Given the description of an element on the screen output the (x, y) to click on. 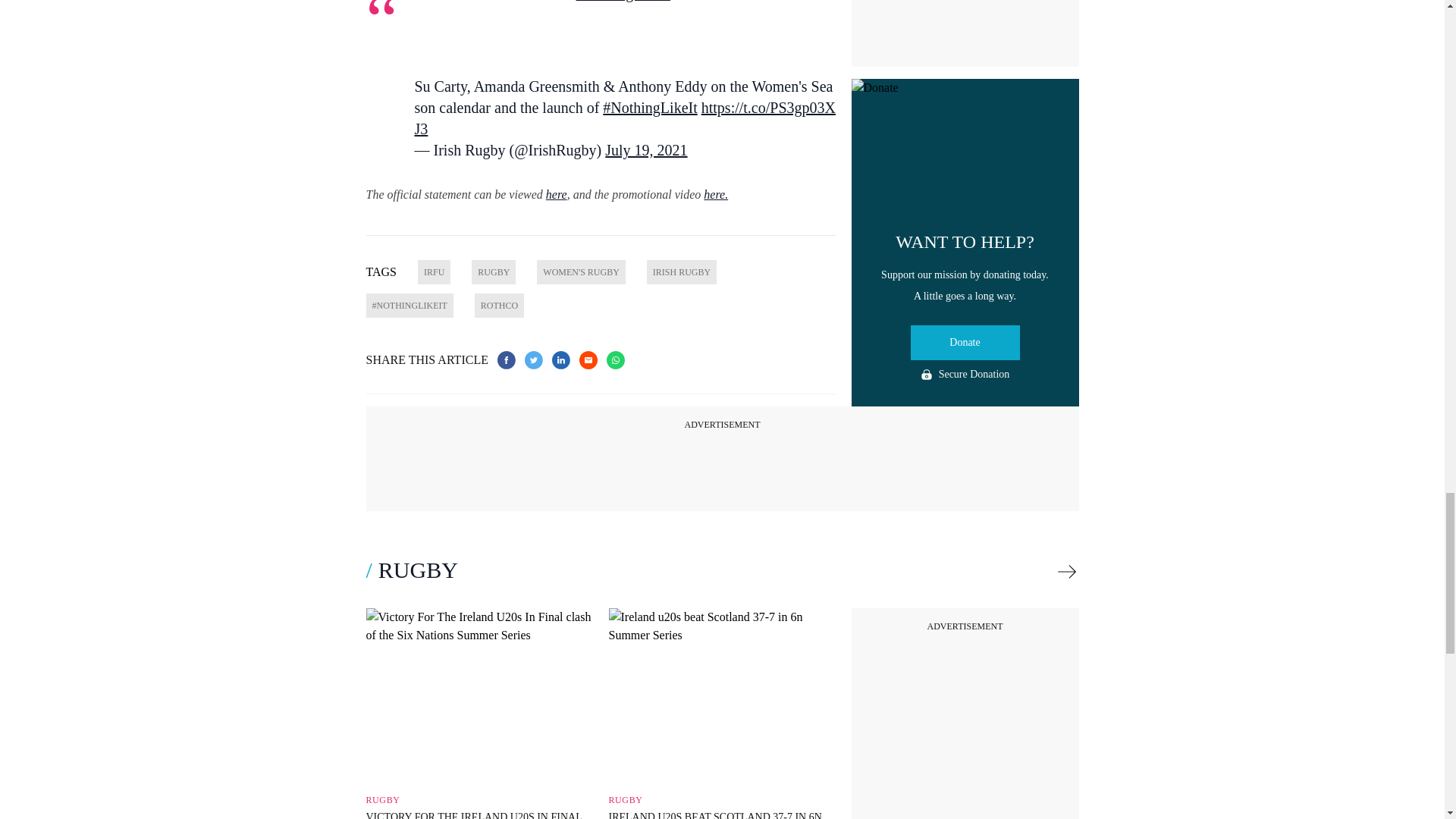
Read more about Rugby (1066, 571)
